Given the description of an element on the screen output the (x, y) to click on. 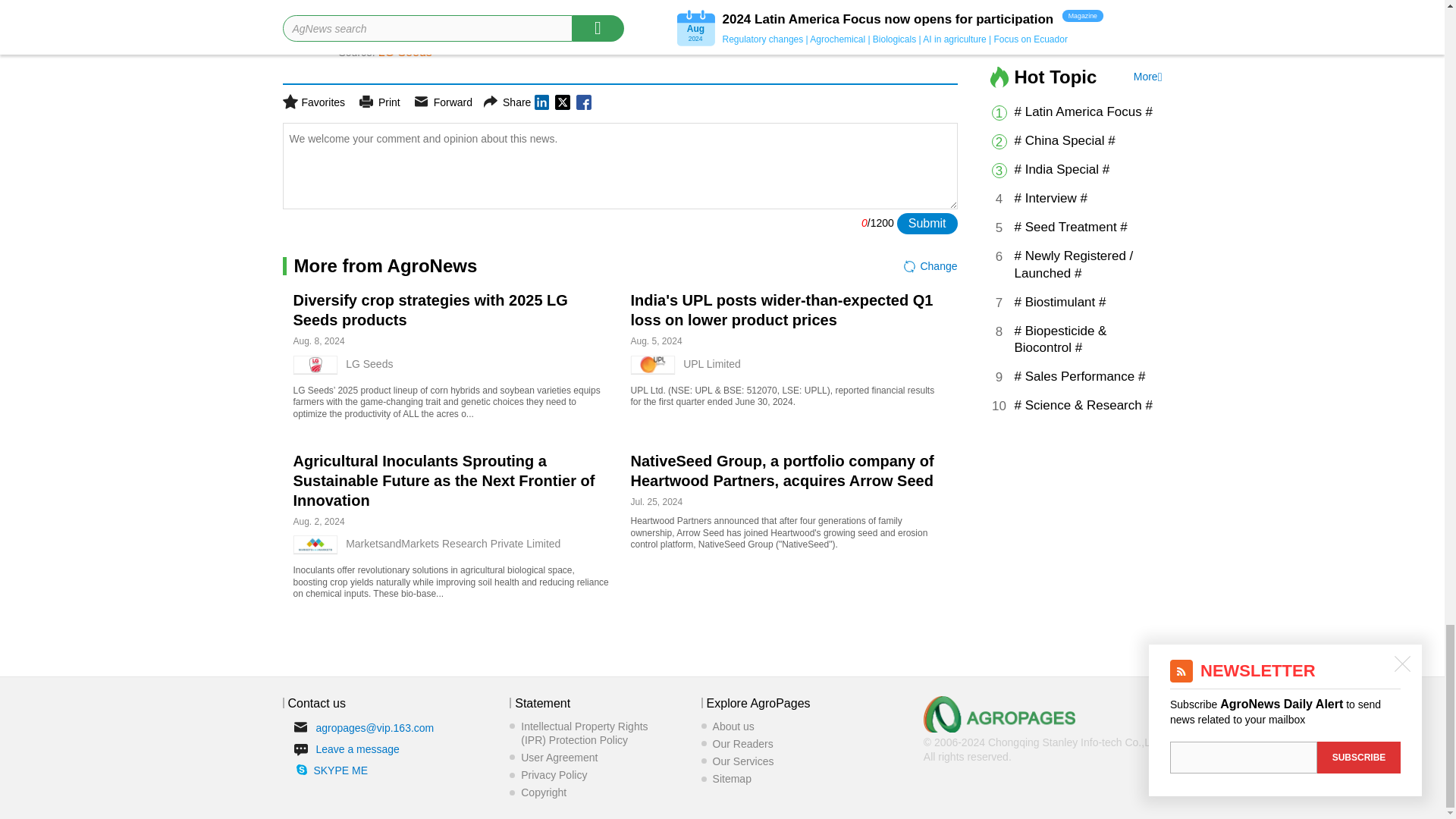
Diversify crop strategies with 2025 LG Seeds products (429, 309)
Submit (927, 223)
